Given the description of an element on the screen output the (x, y) to click on. 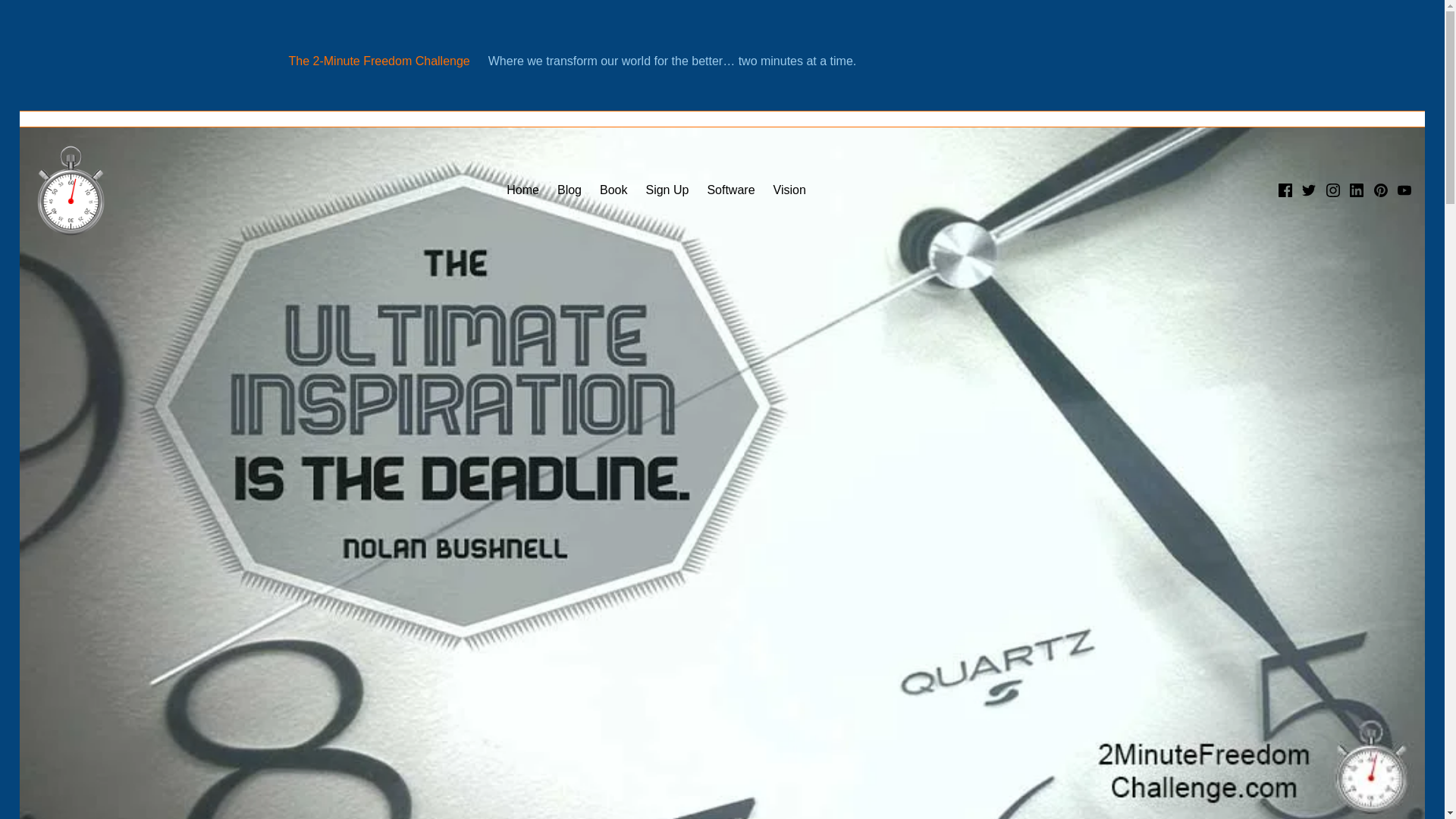
Software (730, 189)
Home (522, 189)
YouTube icon (1403, 190)
Facebook icon (1285, 190)
LinkedIn icon (1355, 190)
Vision (789, 189)
Youtube (1403, 190)
Pinterest (1380, 190)
Facebook (1285, 190)
